Given the description of an element on the screen output the (x, y) to click on. 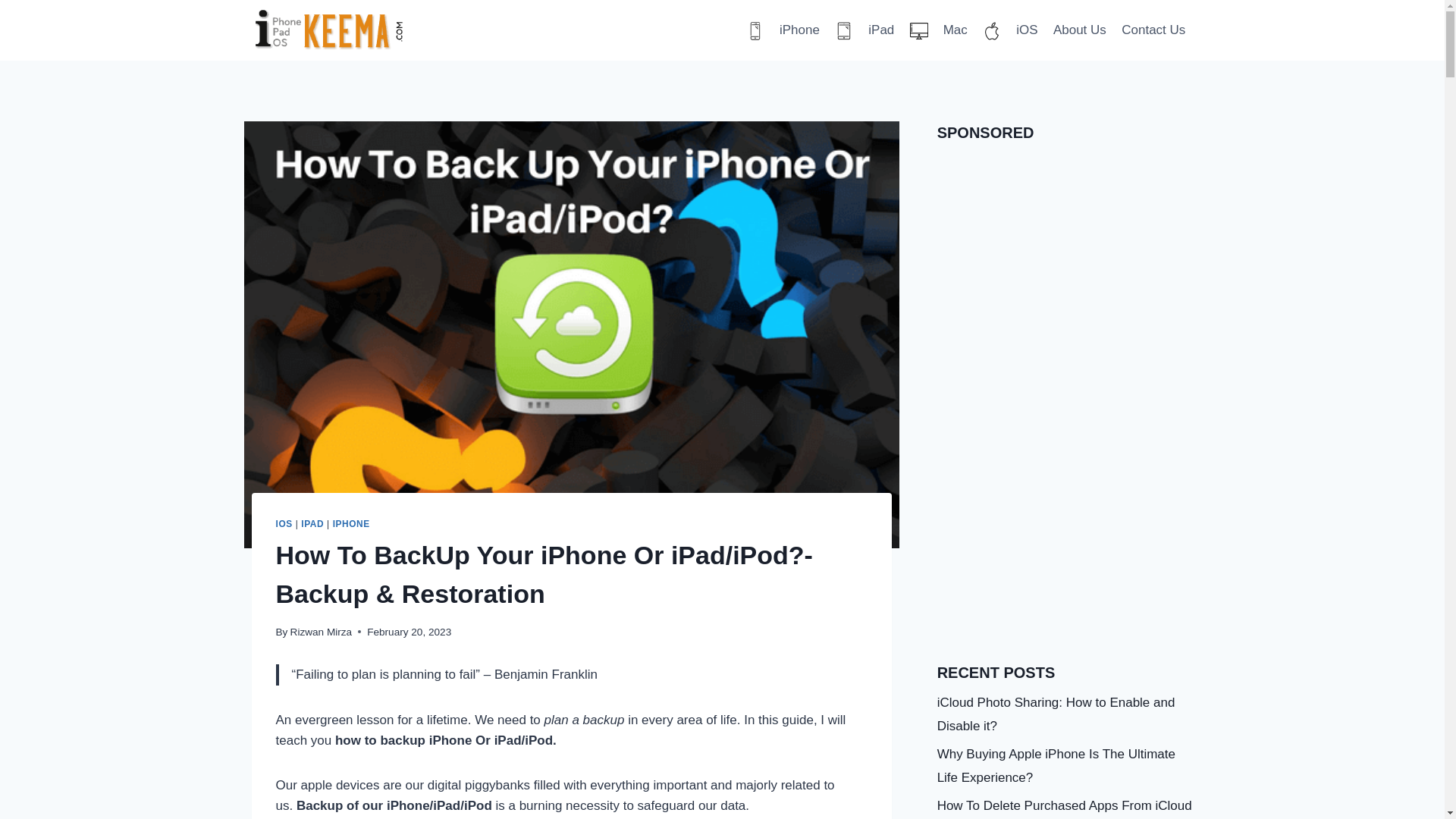
Advertisement (1065, 529)
IPHONE (351, 523)
About Us (1079, 30)
Rizwan Mirza (320, 632)
iOS (1010, 30)
Contact Us (1152, 30)
IPAD (312, 523)
Mac (938, 30)
iPhone (782, 30)
iPad (864, 30)
IOS (284, 523)
